Given the description of an element on the screen output the (x, y) to click on. 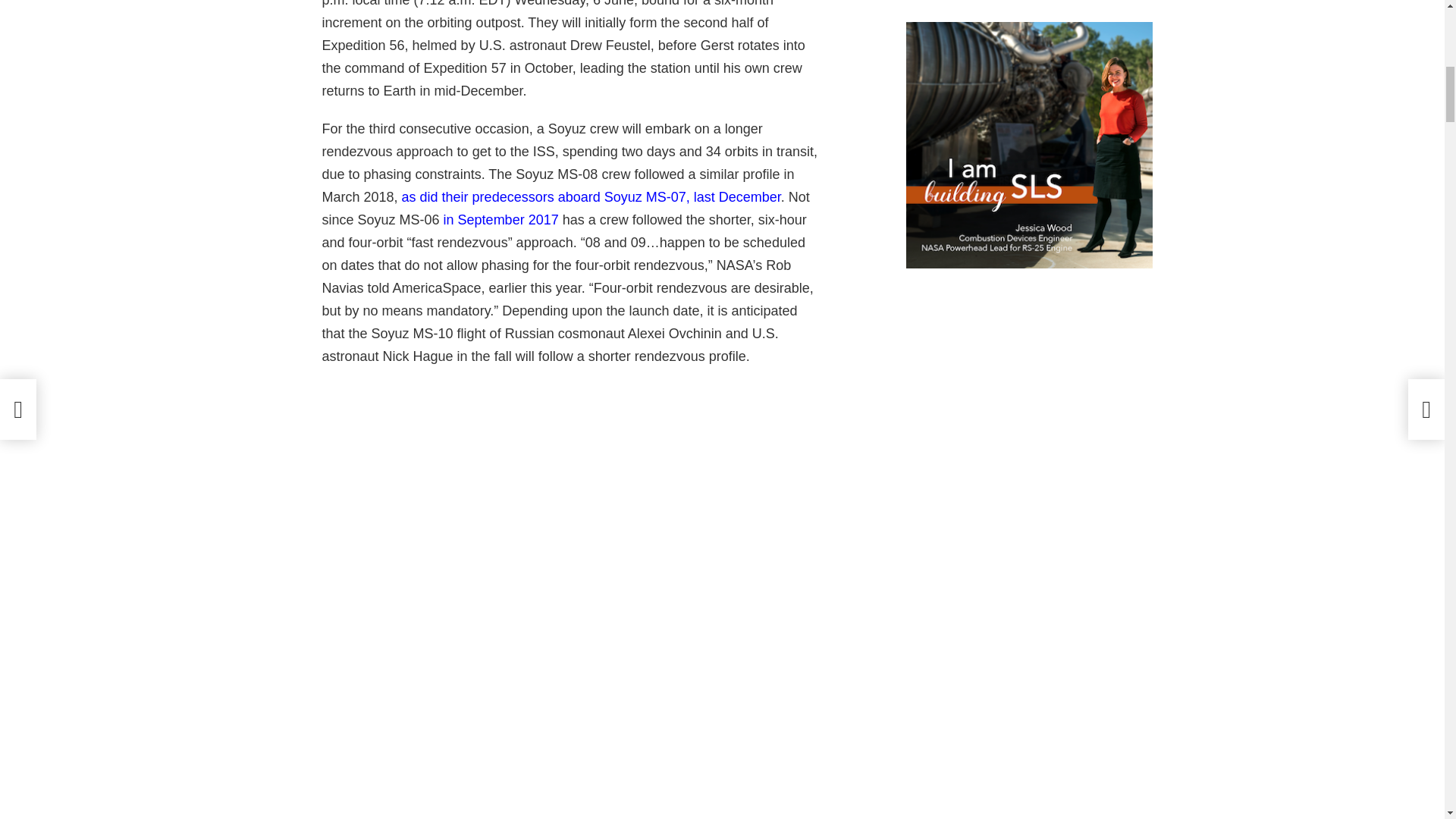
as did their predecessors aboard Soyuz MS-07, last December (590, 196)
in September 2017 (501, 219)
